Given the description of an element on the screen output the (x, y) to click on. 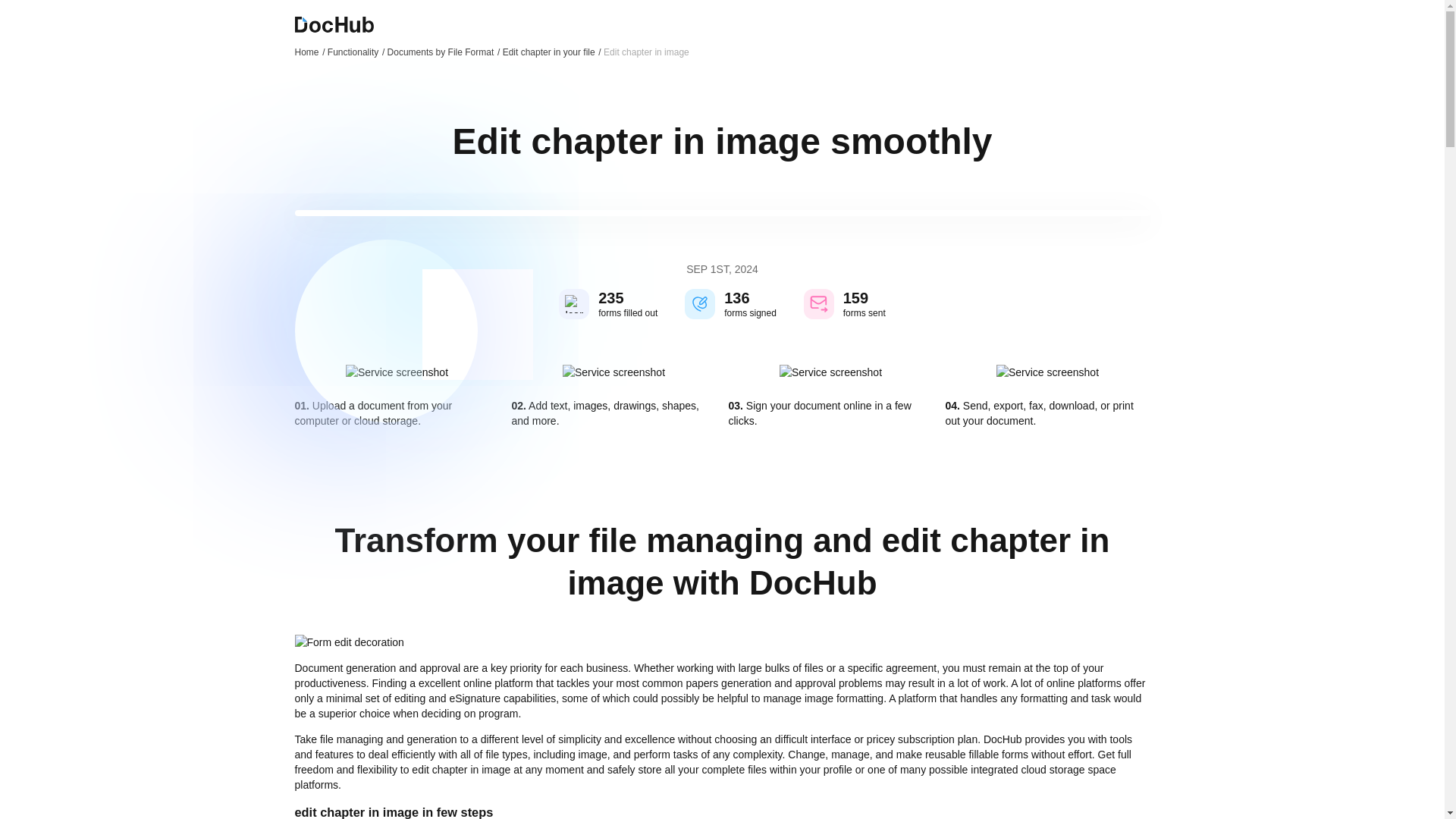
Documents by File Format (443, 51)
Functionality (355, 51)
Edit chapter in your file (551, 51)
Home (309, 51)
